Given the description of an element on the screen output the (x, y) to click on. 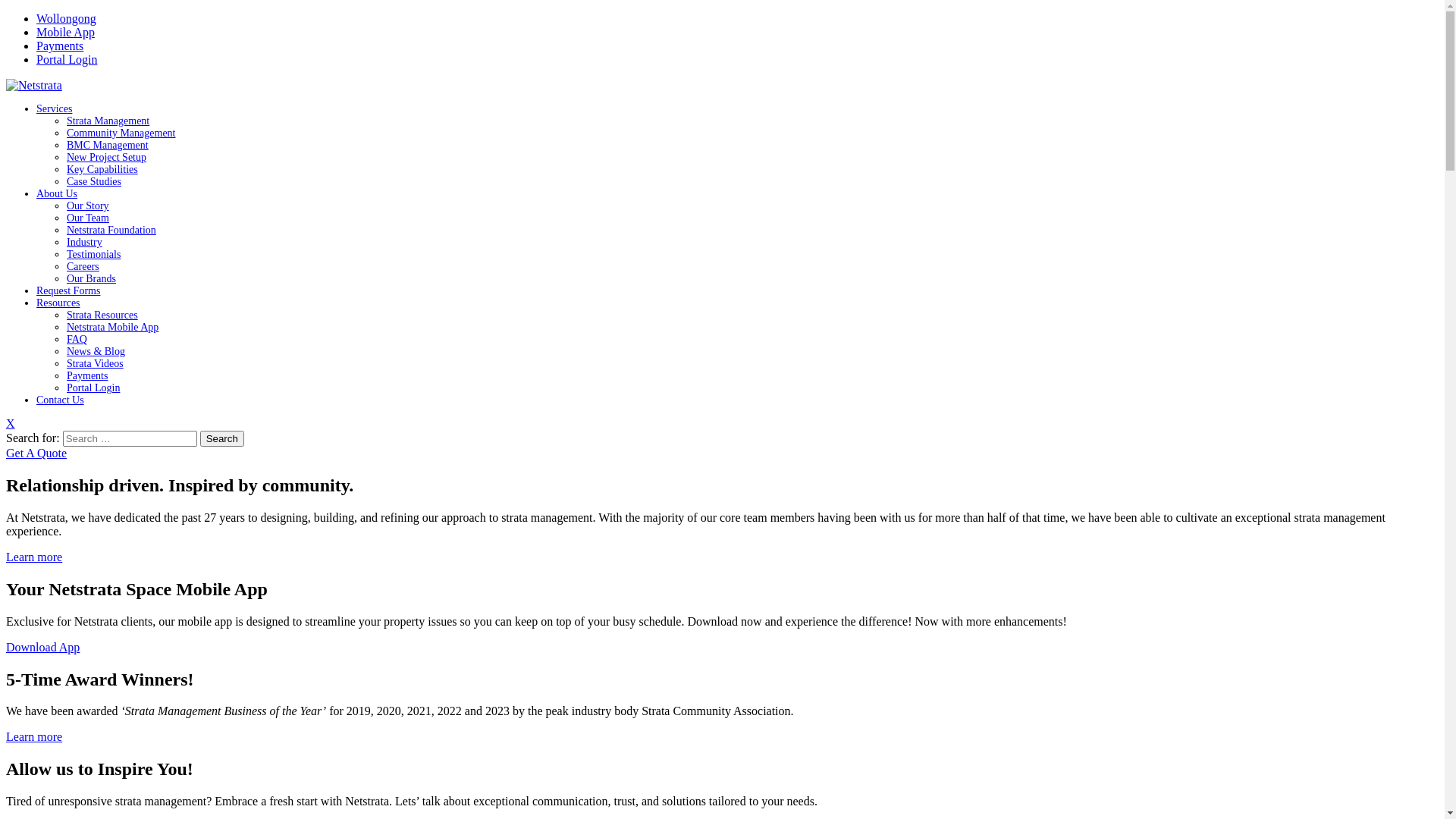
Contact Us Element type: text (60, 399)
Payments Element type: text (59, 45)
Community Management Element type: text (120, 132)
Careers Element type: text (82, 266)
Case Studies Element type: text (93, 181)
Wollongong Element type: text (66, 18)
Download App Element type: text (42, 646)
Our Brands Element type: text (91, 278)
Get A Quote Element type: text (36, 452)
Strata Videos Element type: text (94, 363)
Testimonials Element type: text (93, 254)
Search Element type: text (222, 438)
Portal Login Element type: text (92, 387)
X Element type: text (10, 423)
Strata Resources Element type: text (102, 314)
Netstrata Mobile App Element type: text (112, 326)
About Us Element type: text (56, 193)
New Project Setup Element type: text (106, 157)
BMC Management Element type: text (107, 144)
Strata Management Element type: text (107, 120)
Portal Login Element type: text (66, 59)
Netstrata Foundation Element type: text (111, 229)
Payments Element type: text (86, 375)
Our Story Element type: text (87, 205)
FAQ Element type: text (76, 339)
Key Capabilities Element type: text (102, 169)
Learn more Element type: text (34, 736)
Industry Element type: text (84, 241)
News & Blog Element type: text (95, 351)
Mobile App Element type: text (65, 31)
Request Forms Element type: text (68, 290)
Our Team Element type: text (87, 217)
Resources Element type: text (58, 302)
Learn more Element type: text (34, 556)
Services Element type: text (54, 108)
